Given the description of an element on the screen output the (x, y) to click on. 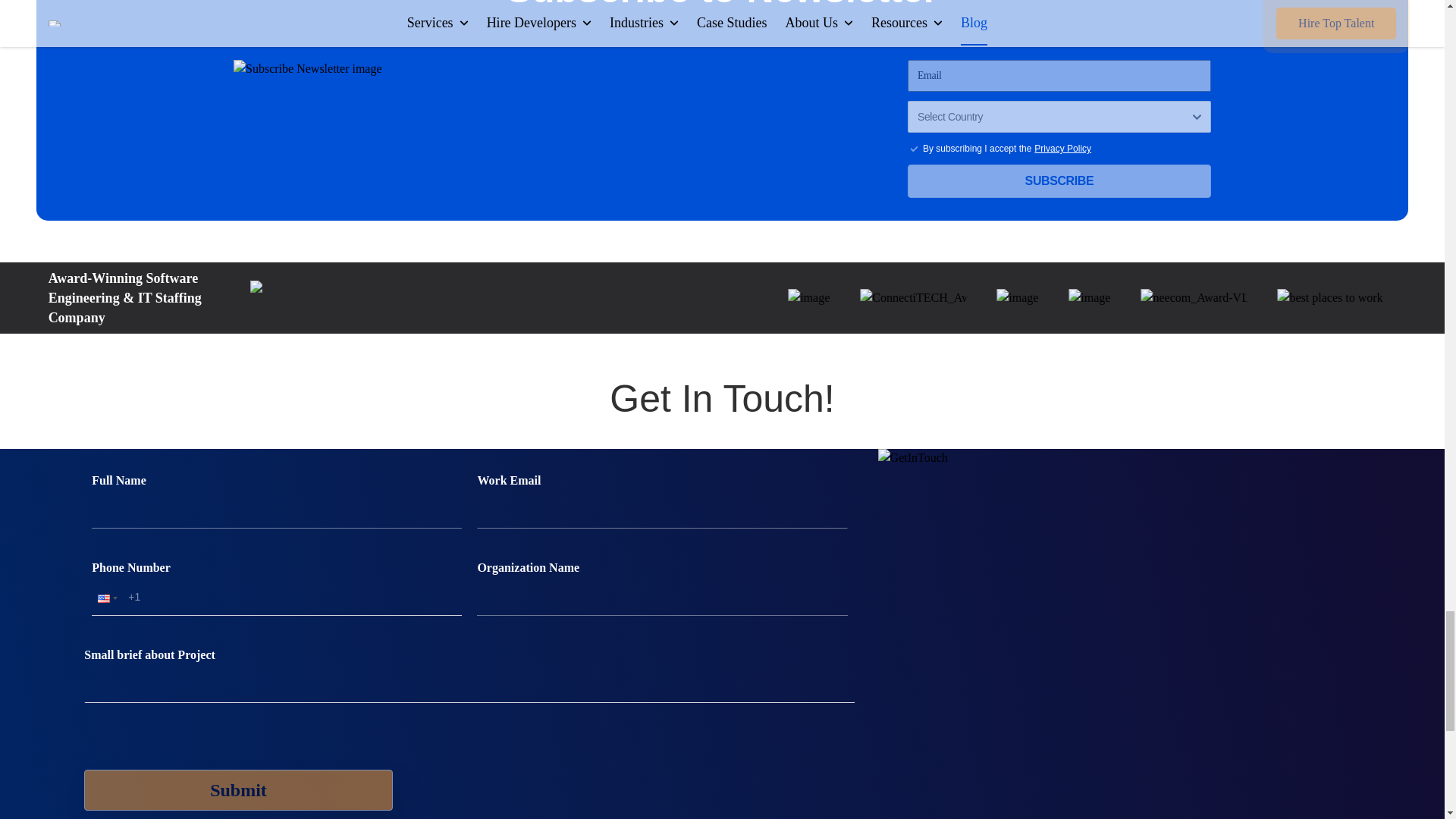
true (913, 148)
